Given the description of an element on the screen output the (x, y) to click on. 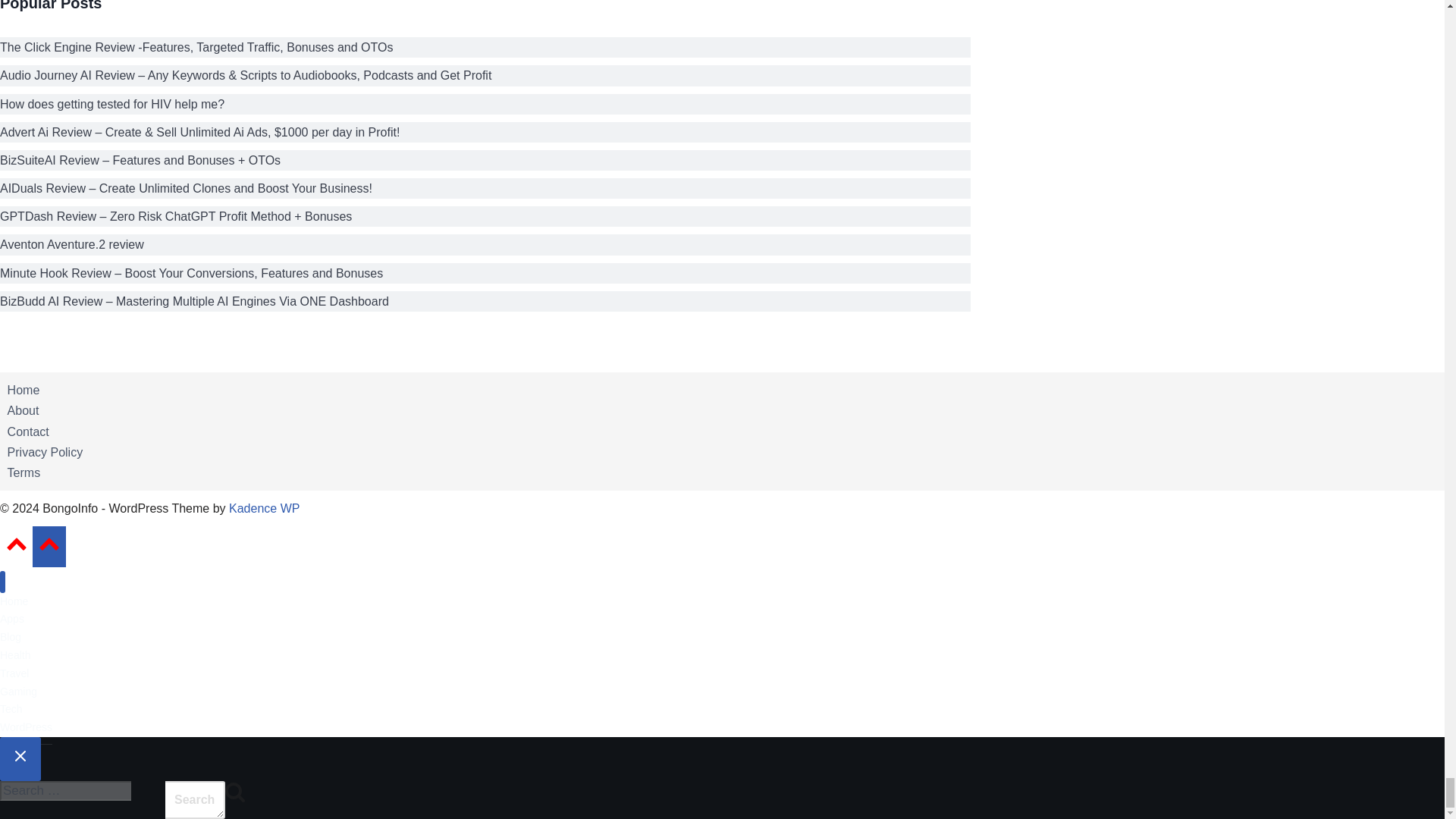
Search (234, 791)
Scroll to top (16, 547)
Scroll to top (16, 542)
Scroll to top (49, 542)
Toggle Menu Close (20, 755)
